Given the description of an element on the screen output the (x, y) to click on. 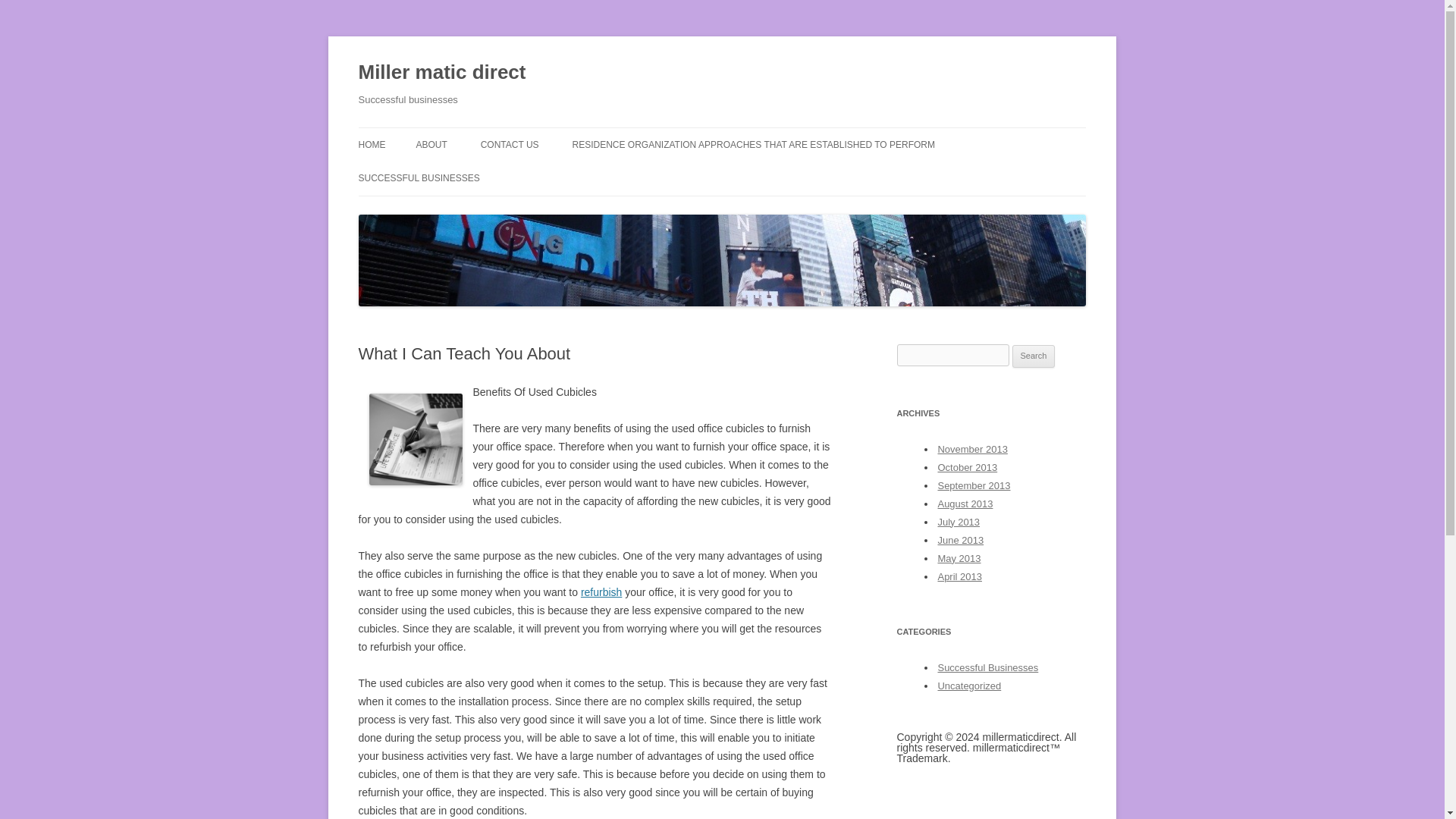
September 2013 (973, 485)
Successful Businesses (987, 667)
ABOUT (430, 144)
SUCCESSFUL BUSINESSES (418, 177)
April 2013 (959, 576)
Miller matic direct (441, 72)
Miller matic direct (441, 72)
View all posts filed under Uncategorized (969, 685)
June 2013 (960, 540)
May 2013 (958, 558)
July 2013 (958, 521)
View all posts filed under Successful Businesses (987, 667)
